Given the description of an element on the screen output the (x, y) to click on. 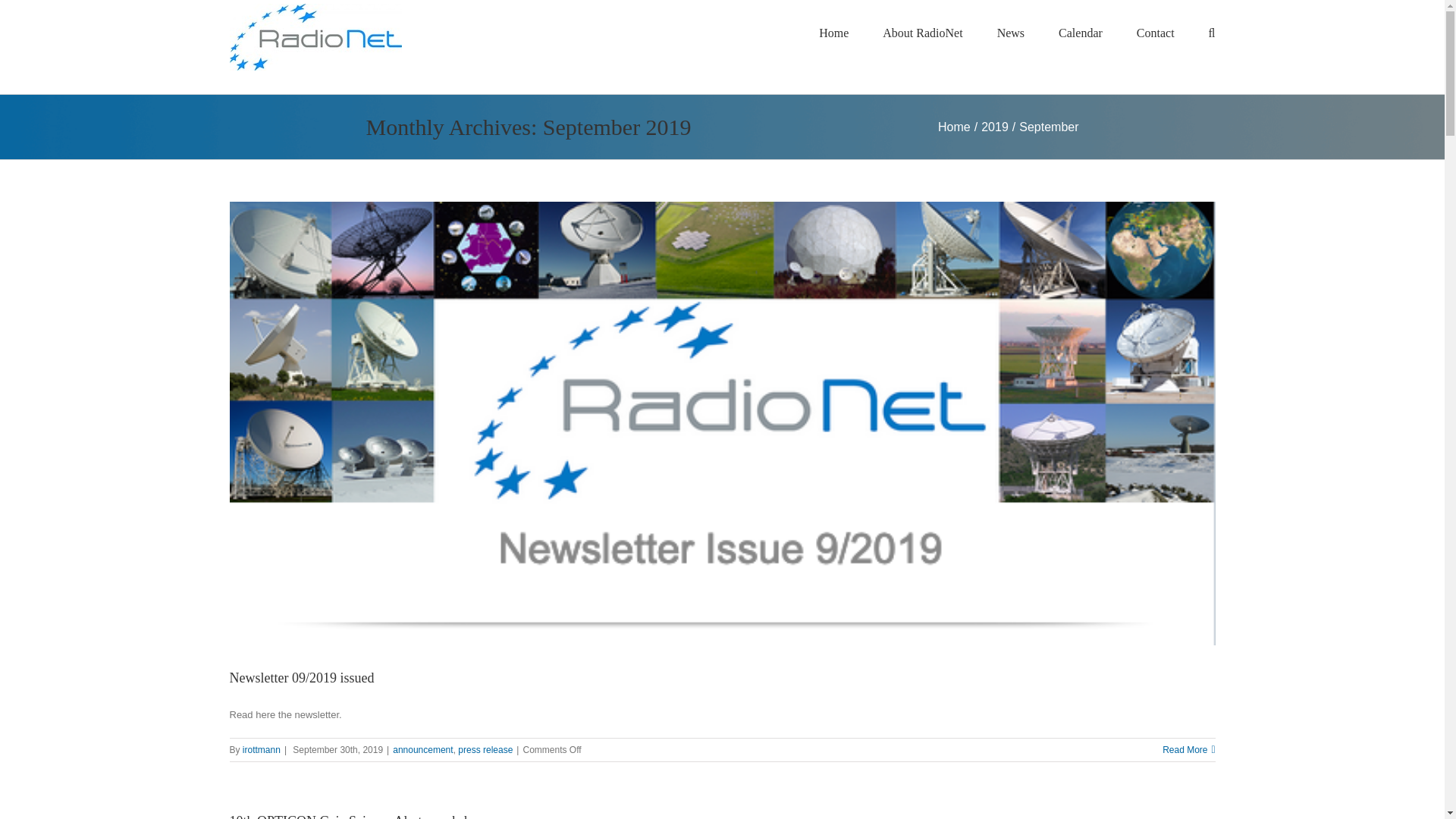
About RadioNet (922, 31)
Posts by irottmann (262, 749)
